Given the description of an element on the screen output the (x, y) to click on. 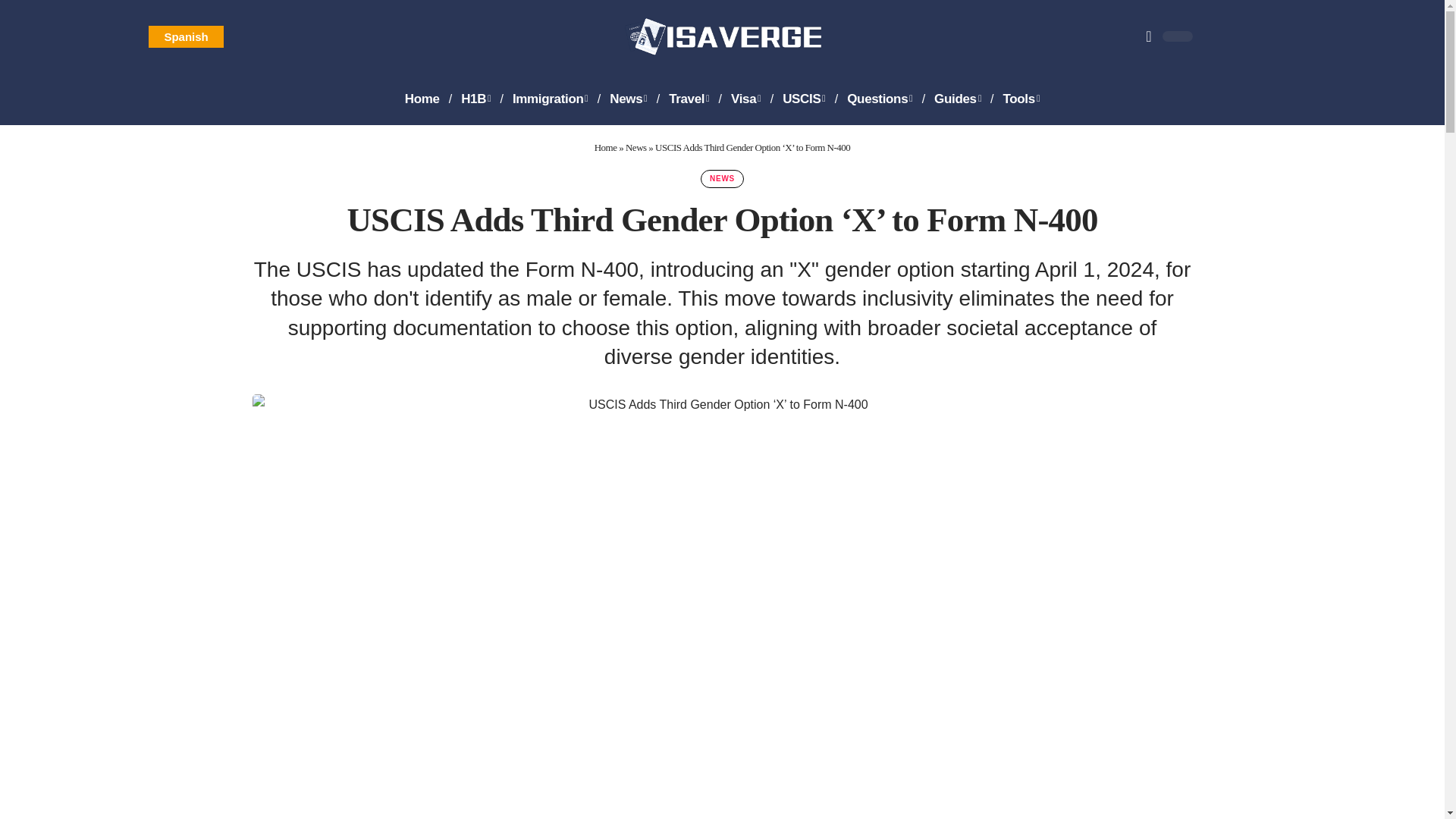
Spanish (185, 36)
Travel (688, 99)
Immigration (549, 99)
Home (422, 99)
News (627, 99)
Visa (746, 99)
H1B (475, 99)
